Given the description of an element on the screen output the (x, y) to click on. 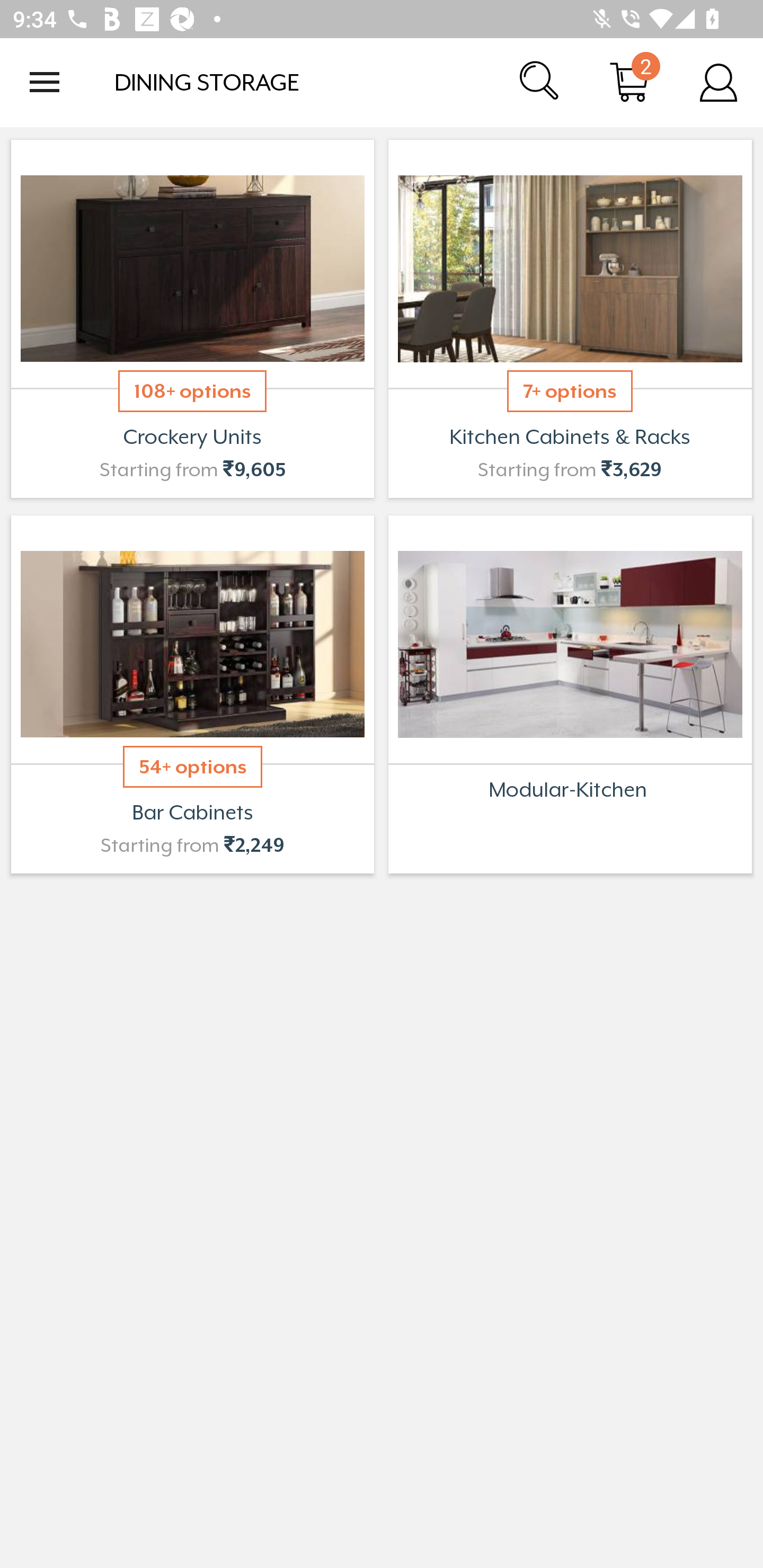
Open navigation drawer (44, 82)
Search (540, 81)
Cart (629, 81)
Account Details (718, 81)
108+ options Crockery Units Starting from  ₹9,605 (191, 318)
54+ options Bar Cabinets Starting from  ₹2,249 (191, 694)
Modular-Kitchen  (570, 694)
